Given the description of an element on the screen output the (x, y) to click on. 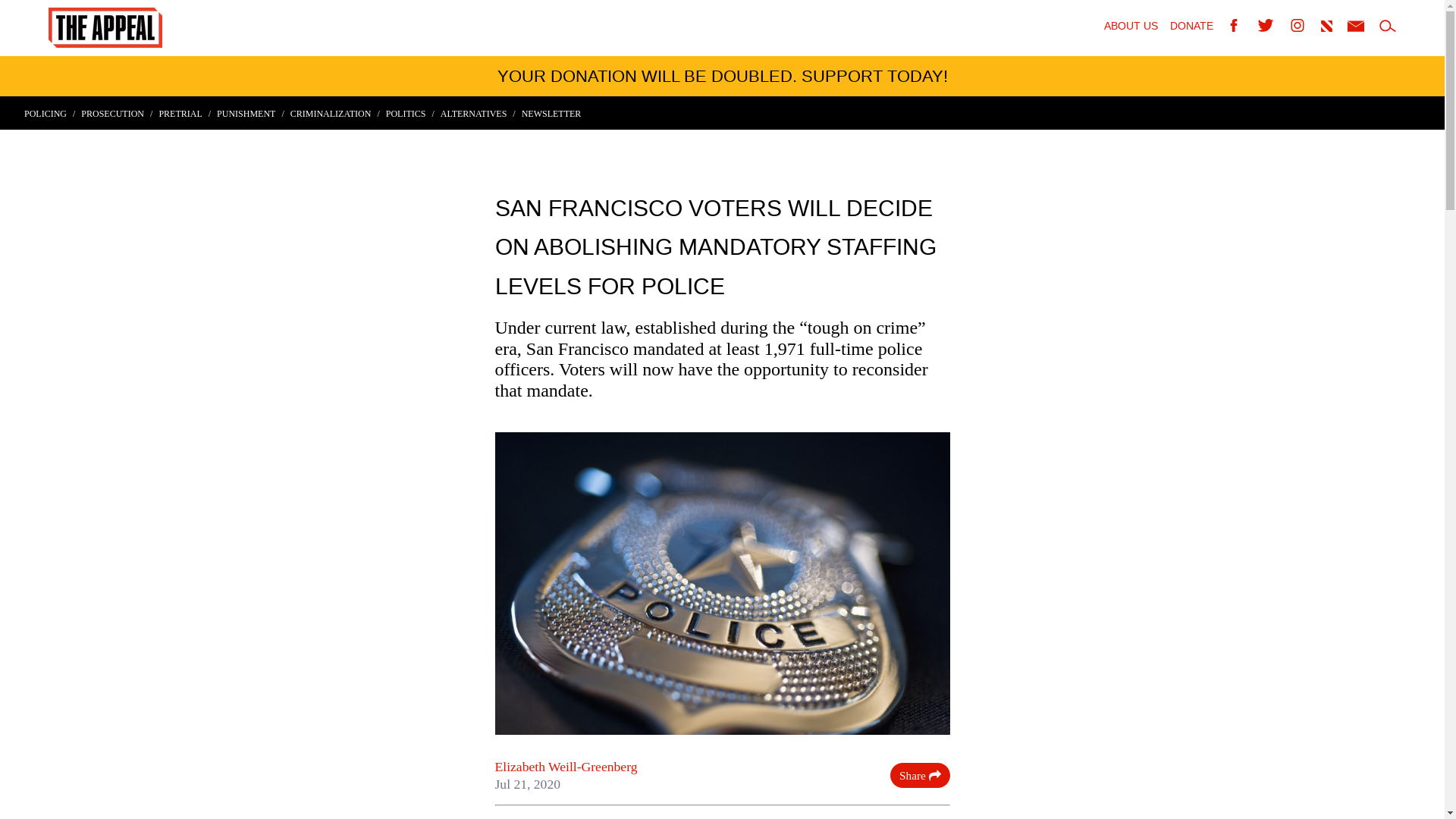
PROSECUTION (116, 113)
Policing (49, 113)
NEWSLETTER (550, 113)
PUNISHMENT (249, 113)
PRETRIAL (184, 113)
Elizabeth Weill-Greenberg (566, 766)
Punishment (249, 113)
POLICING (49, 113)
Share (919, 774)
Politics (409, 113)
Alternatives (478, 113)
Pretrial (184, 113)
POLITICS (409, 113)
DONATE (1191, 27)
Criminalization (334, 113)
